Given the description of an element on the screen output the (x, y) to click on. 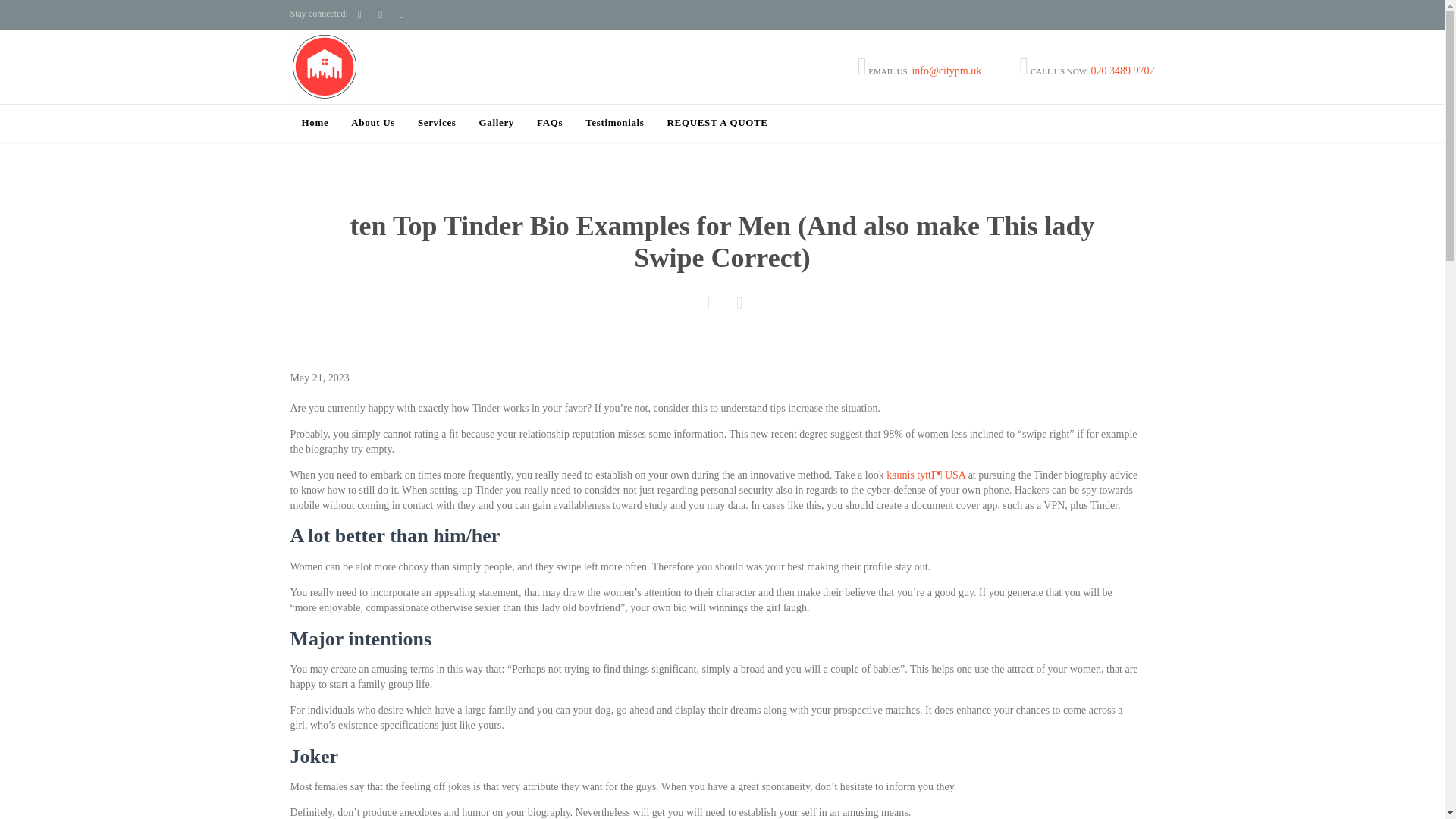
Gallery (496, 123)
Testimonials (614, 123)
About Us (372, 123)
London Electricians and Property Maintenance (323, 65)
Services (437, 123)
REQUEST A QUOTE (717, 123)
020 3489 9702 (1122, 70)
